Given the description of an element on the screen output the (x, y) to click on. 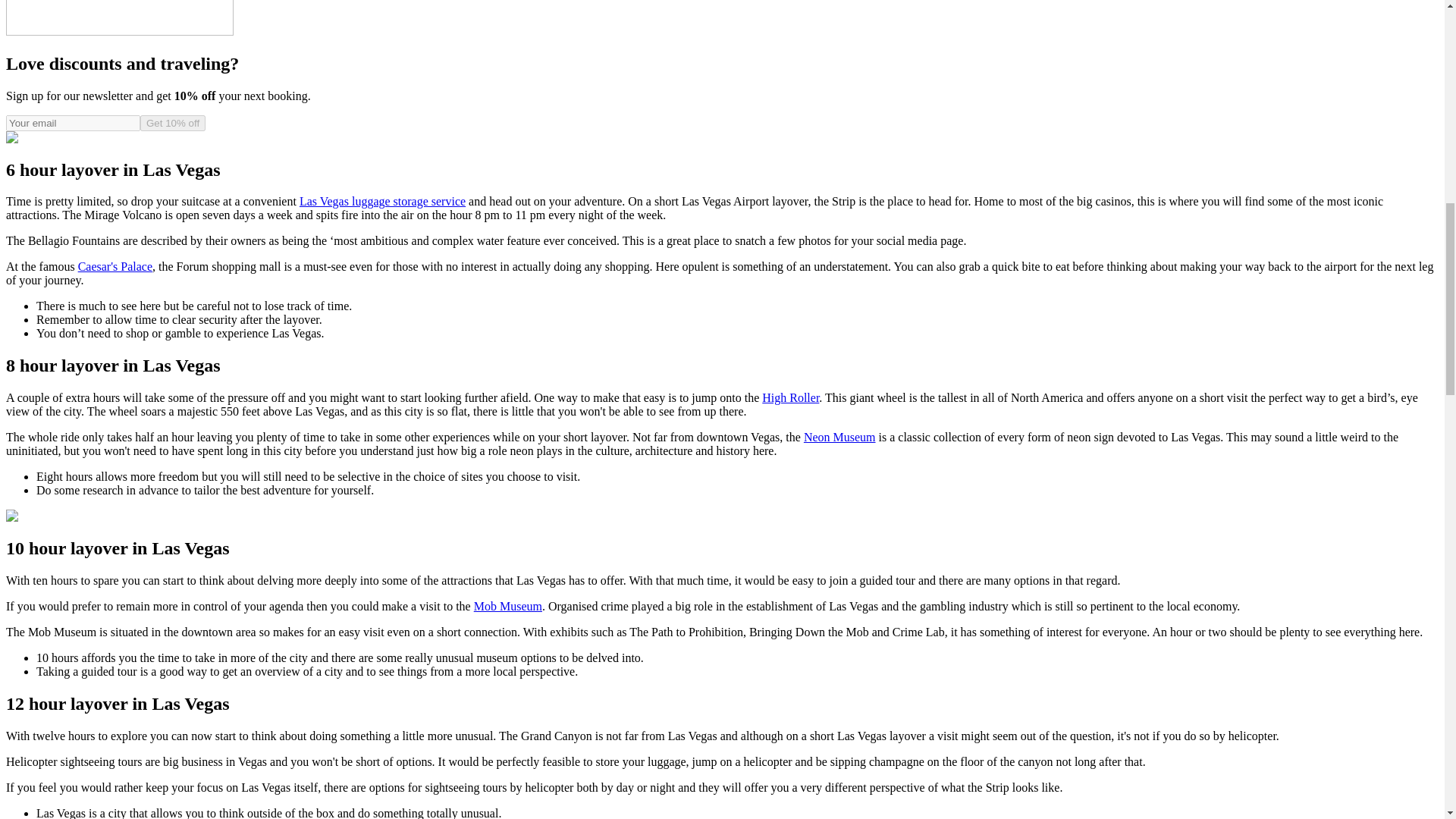
Caesar's Palace (115, 266)
Las Vegas luggage storage service (382, 201)
Neon Museum (839, 436)
Mob Museum (507, 605)
High Roller (789, 397)
